Given the description of an element on the screen output the (x, y) to click on. 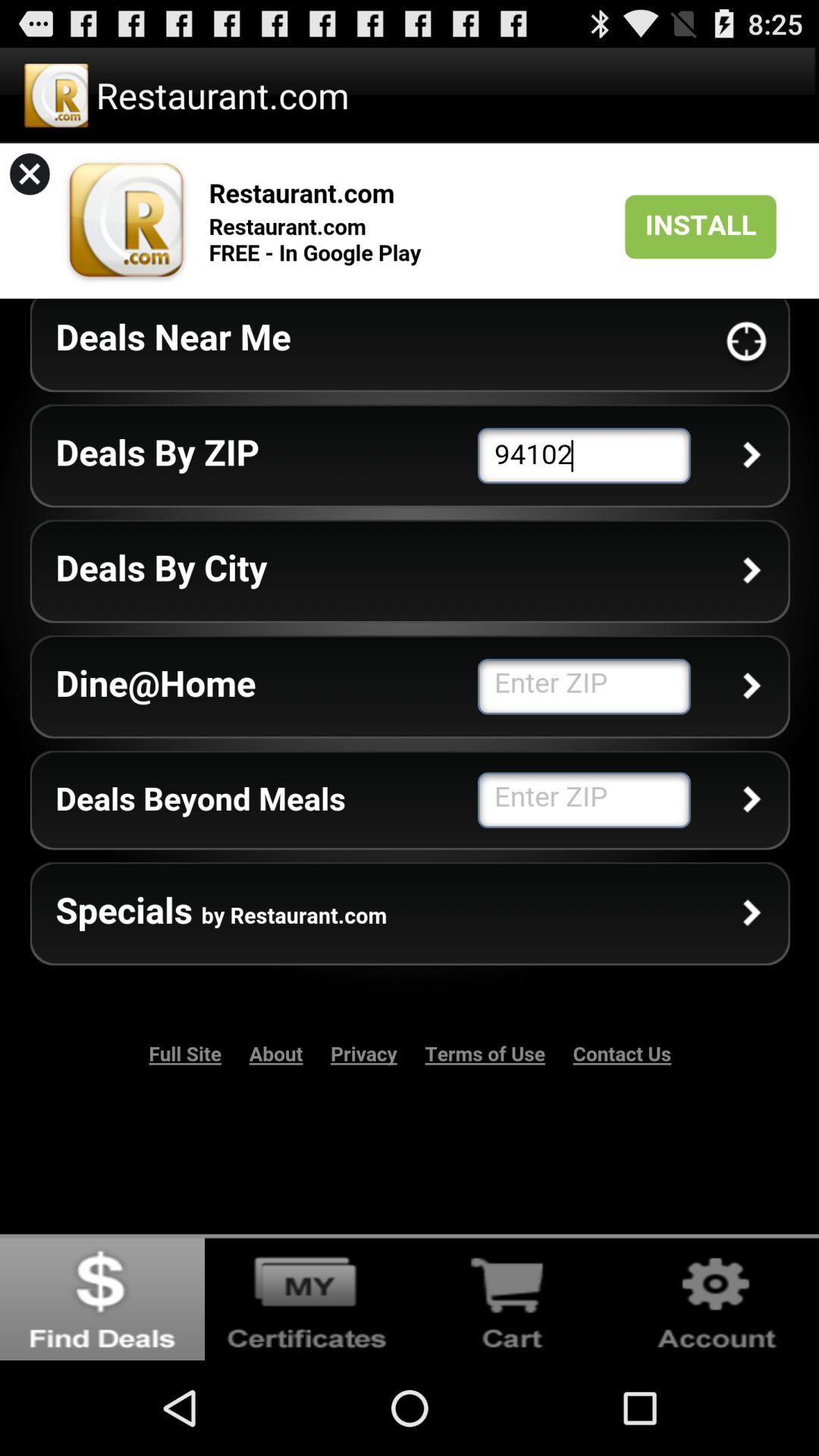
go back button option (102, 1297)
